Given the description of an element on the screen output the (x, y) to click on. 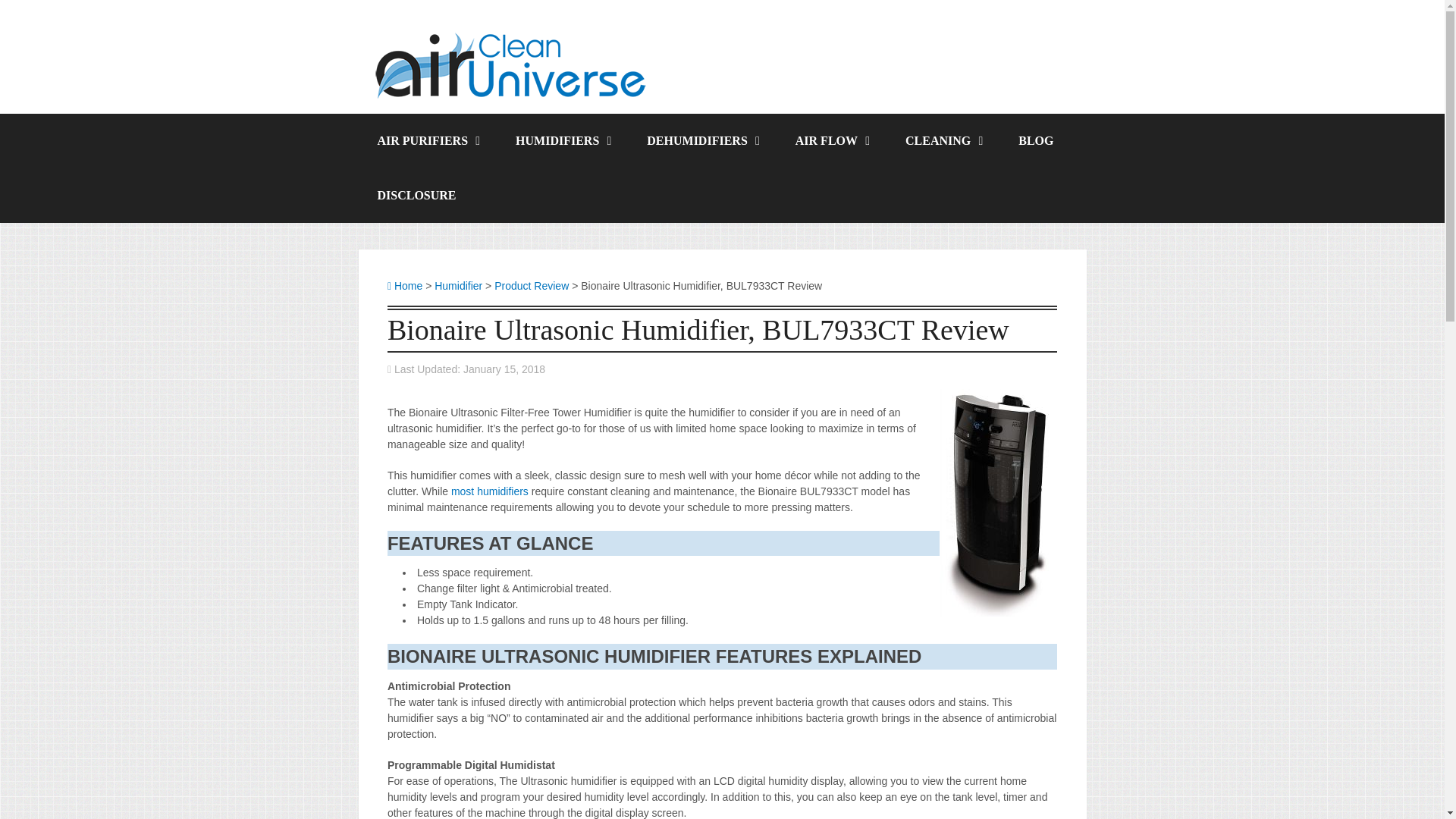
BLOG (1034, 140)
AIR FLOW (831, 140)
AIR PURIFIERS (427, 140)
 Home (404, 285)
most humidifiers (489, 491)
HUMIDIFIERS (561, 140)
CLEANING (942, 140)
DISCLOSURE (416, 195)
DEHUMIDIFIERS (701, 140)
Humidifier (457, 285)
